Given the description of an element on the screen output the (x, y) to click on. 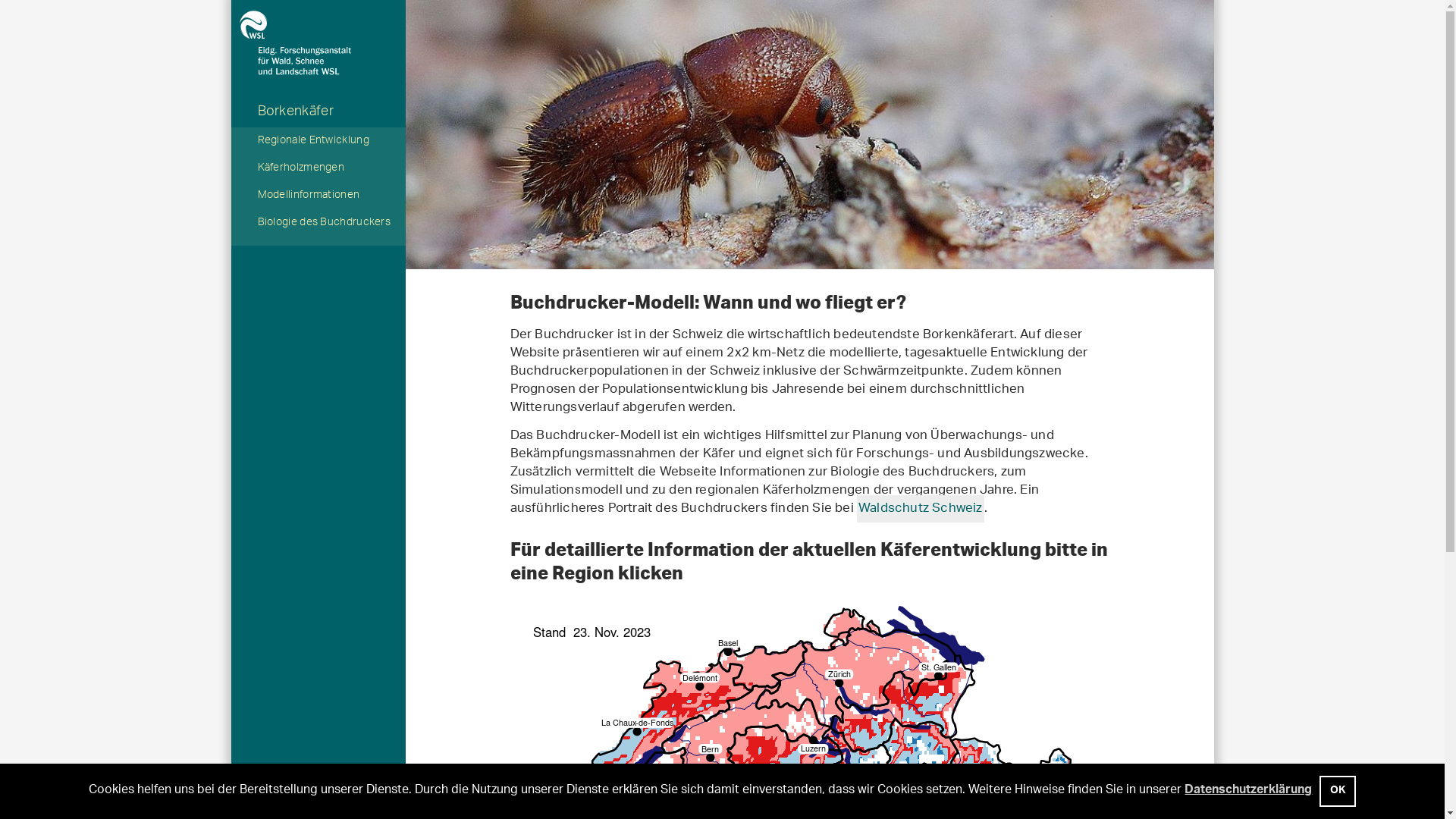
Deutsch Element type: text (305, 799)
OK Element type: text (1337, 790)
twitter Element type: text (559, 799)
biedermann borkenkaefer Element type: hover (808, 134)
Biologie des Buchdruckers Element type: text (317, 223)
Modellinformationen Element type: text (317, 196)
Rechtliches Element type: text (454, 798)
youtube Element type: text (526, 799)
Waldschutz Schweiz Element type: text (920, 508)
WSL Logo Element type: hover (318, 24)
facebook Element type: text (589, 799)
Regionale Entwicklung Element type: text (317, 141)
Kontakt Element type: text (398, 798)
